Given the description of an element on the screen output the (x, y) to click on. 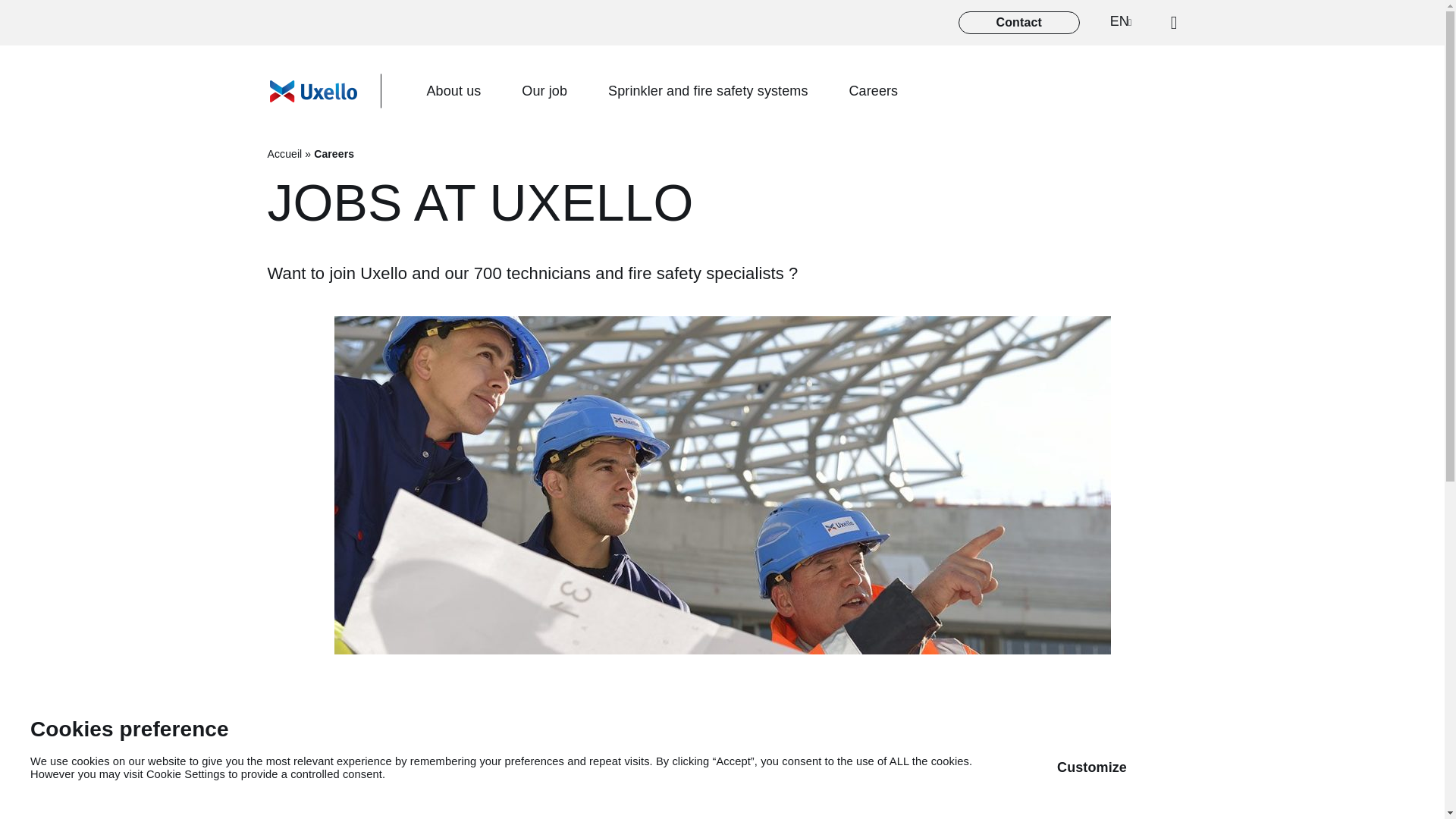
Contact (1019, 22)
EN (1124, 22)
Sprinkler and fire safety systems (708, 90)
